Given the description of an element on the screen output the (x, y) to click on. 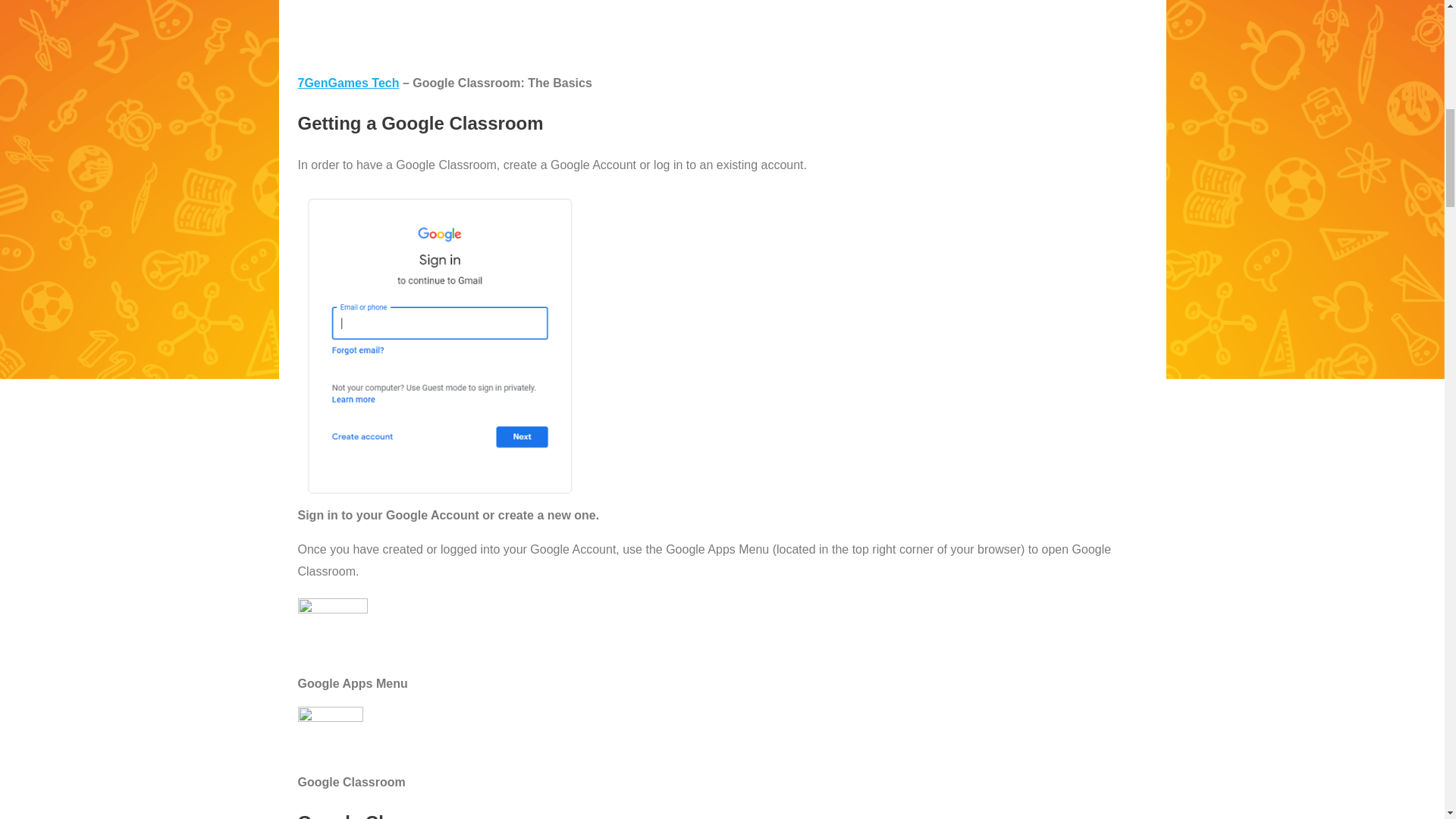
Google Classroom - The Basics (722, 29)
